Given the description of an element on the screen output the (x, y) to click on. 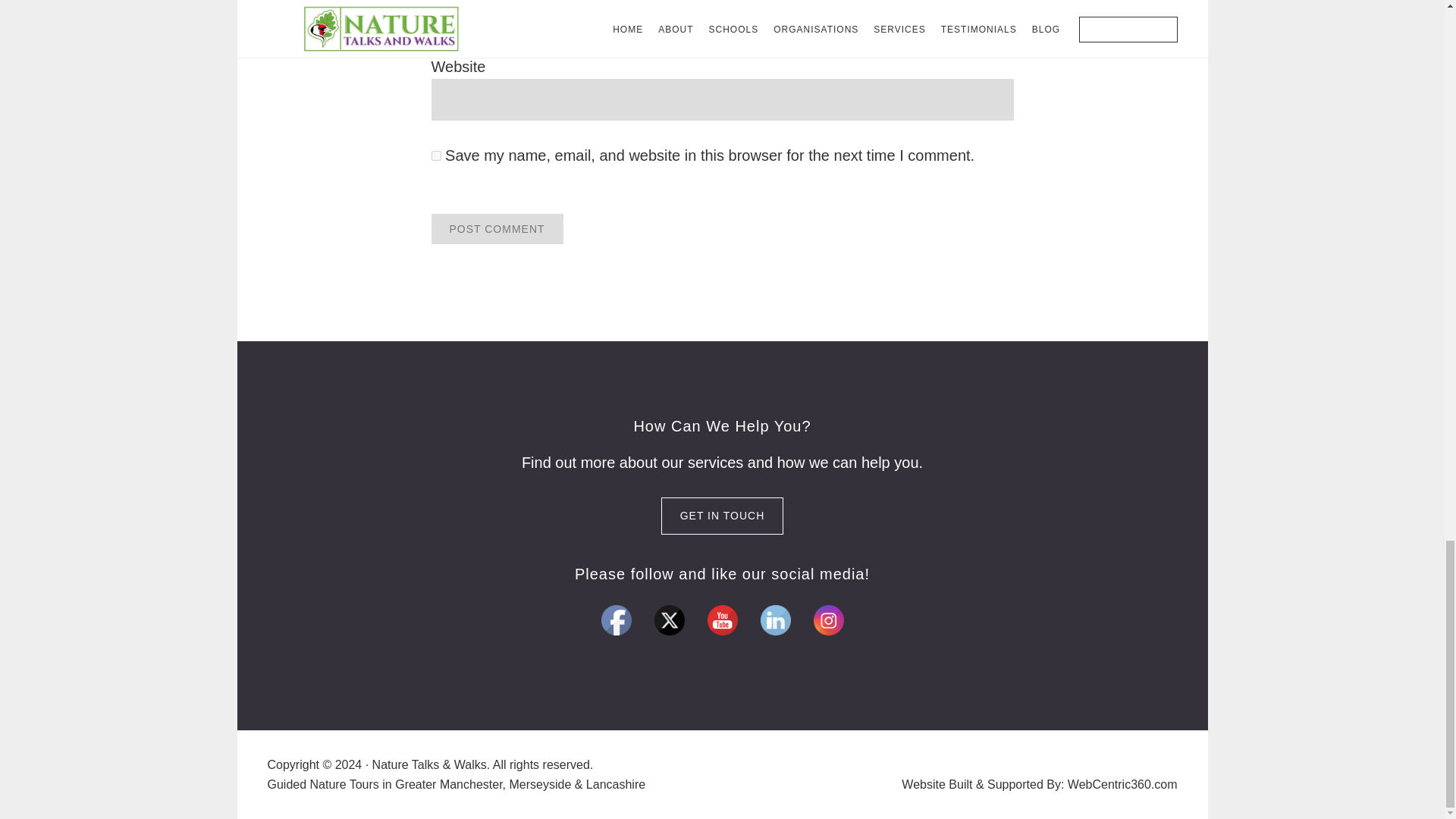
Twitter (668, 620)
Web Design Services (1122, 784)
yes (435, 155)
Facebook (614, 620)
LinkedIn (775, 620)
Post Comment (496, 228)
YouTube (721, 620)
Instagram (827, 620)
